Given the description of an element on the screen output the (x, y) to click on. 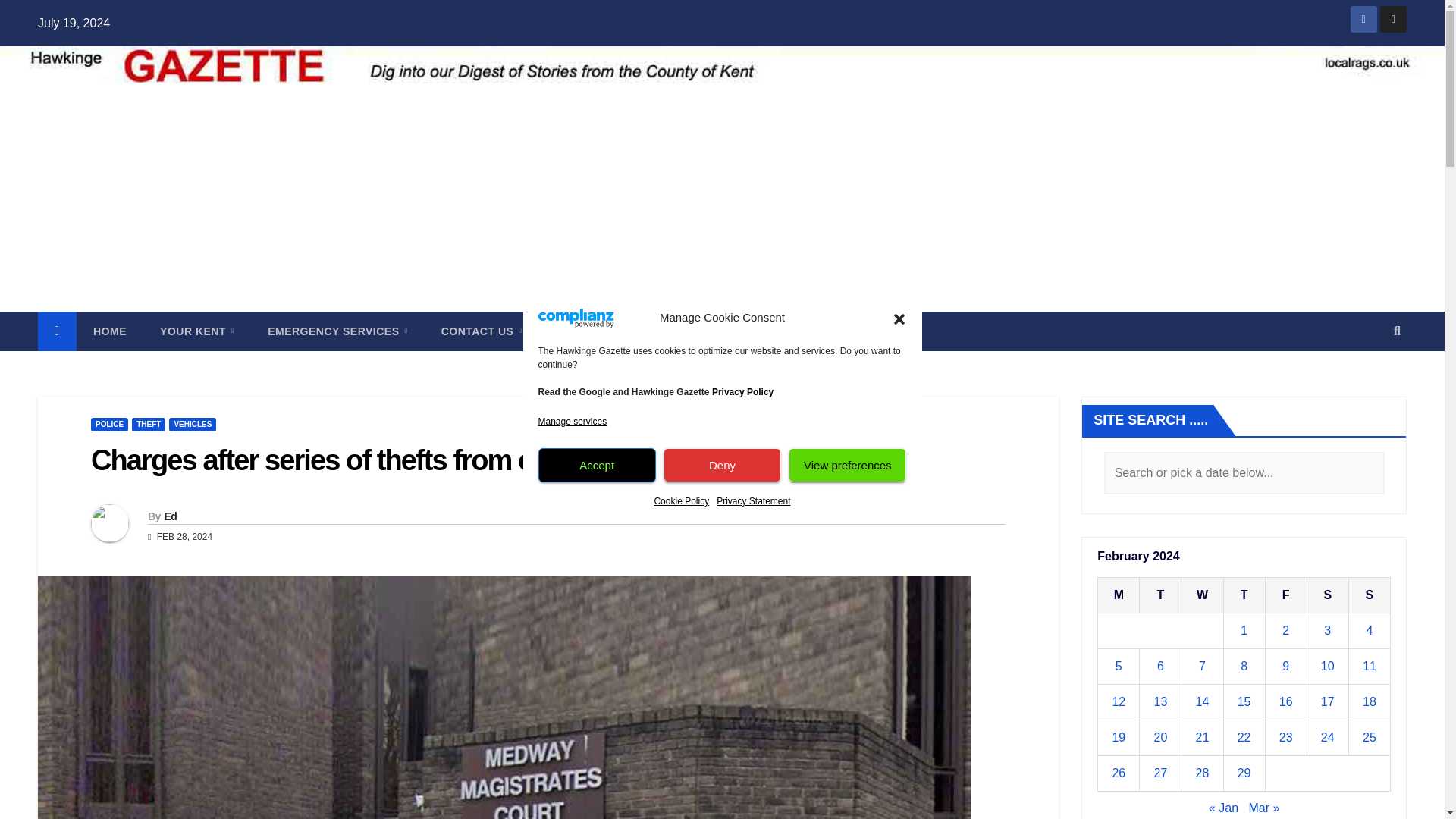
View preferences (847, 464)
Privacy Statement (753, 500)
HOME (109, 331)
Privacy Policy (742, 391)
HOME (109, 331)
Deny (721, 464)
Manage services (572, 421)
YOUR KENT (196, 331)
Accept (597, 464)
YOUR KENT (196, 331)
Cookie Policy (681, 500)
